Given the description of an element on the screen output the (x, y) to click on. 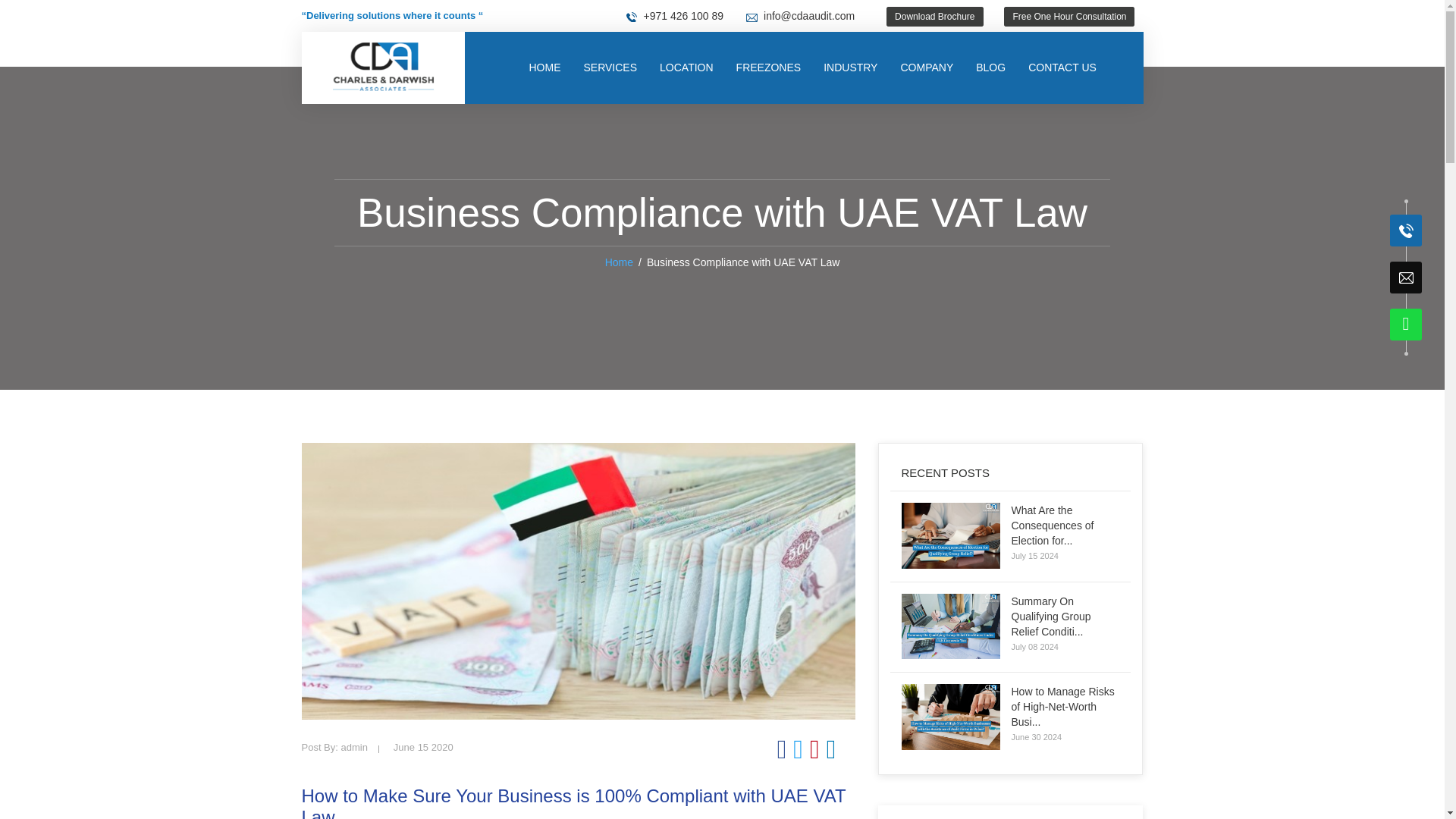
Free One Hour Consultation (1068, 15)
SERVICES (609, 67)
Download Brochure (934, 15)
CDA (383, 67)
